Given the description of an element on the screen output the (x, y) to click on. 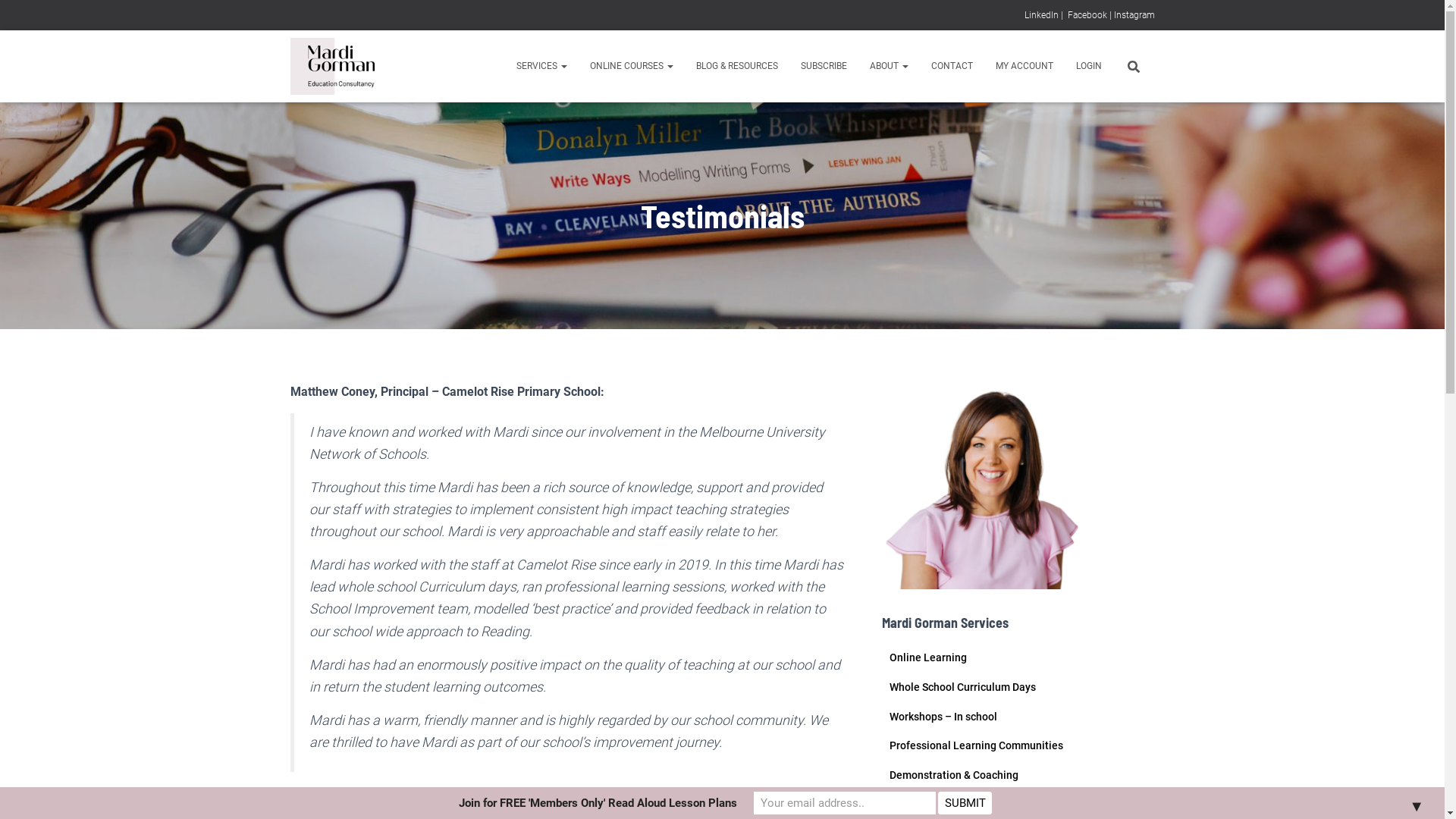
Submit Element type: text (964, 802)
Online Learning Element type: text (927, 657)
ONLINE COURSES Element type: text (630, 65)
ABOUT Element type: text (888, 65)
LOGIN Element type: text (1088, 65)
Instagram Element type: text (1133, 14)
Demonstration & Coaching Element type: text (952, 774)
Professional Learning Communities Element type: text (975, 745)
Learning Walks Element type: text (925, 803)
Facebook Element type: text (1087, 14)
Search Element type: text (3, 16)
SERVICES Element type: text (541, 65)
BLOG & RESOURCES Element type: text (736, 65)
SUBSCRIBE Element type: text (822, 65)
Mardi Gorman Education Consultancy Element type: hover (332, 65)
LinkedIn Element type: text (1040, 14)
MY ACCOUNT Element type: text (1024, 65)
Whole School Curriculum Days Element type: text (961, 686)
CONTACT Element type: text (951, 65)
